Given the description of an element on the screen output the (x, y) to click on. 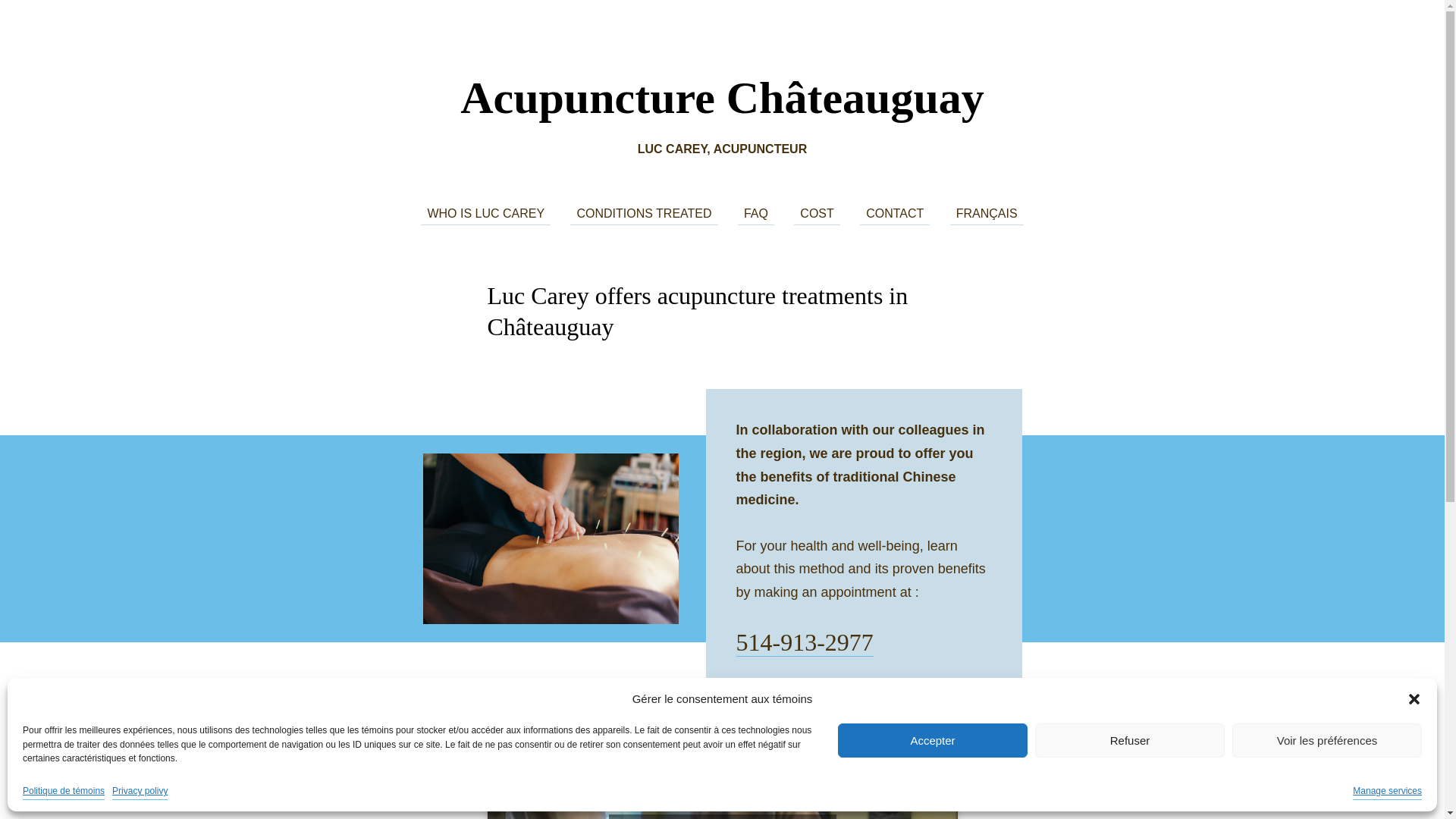
WHO IS LUC CAREY Element type: text (485, 213)
Refuser Element type: text (1129, 741)
CONTACT Element type: text (894, 213)
CONDITIONS TREATED Element type: text (643, 213)
Manage services Element type: text (1386, 792)
COST Element type: text (816, 213)
Accepter Element type: text (932, 741)
Privacy polivy Element type: text (139, 792)
514-913-2977 Element type: text (803, 642)
FAQ Element type: text (755, 213)
